Given the description of an element on the screen output the (x, y) to click on. 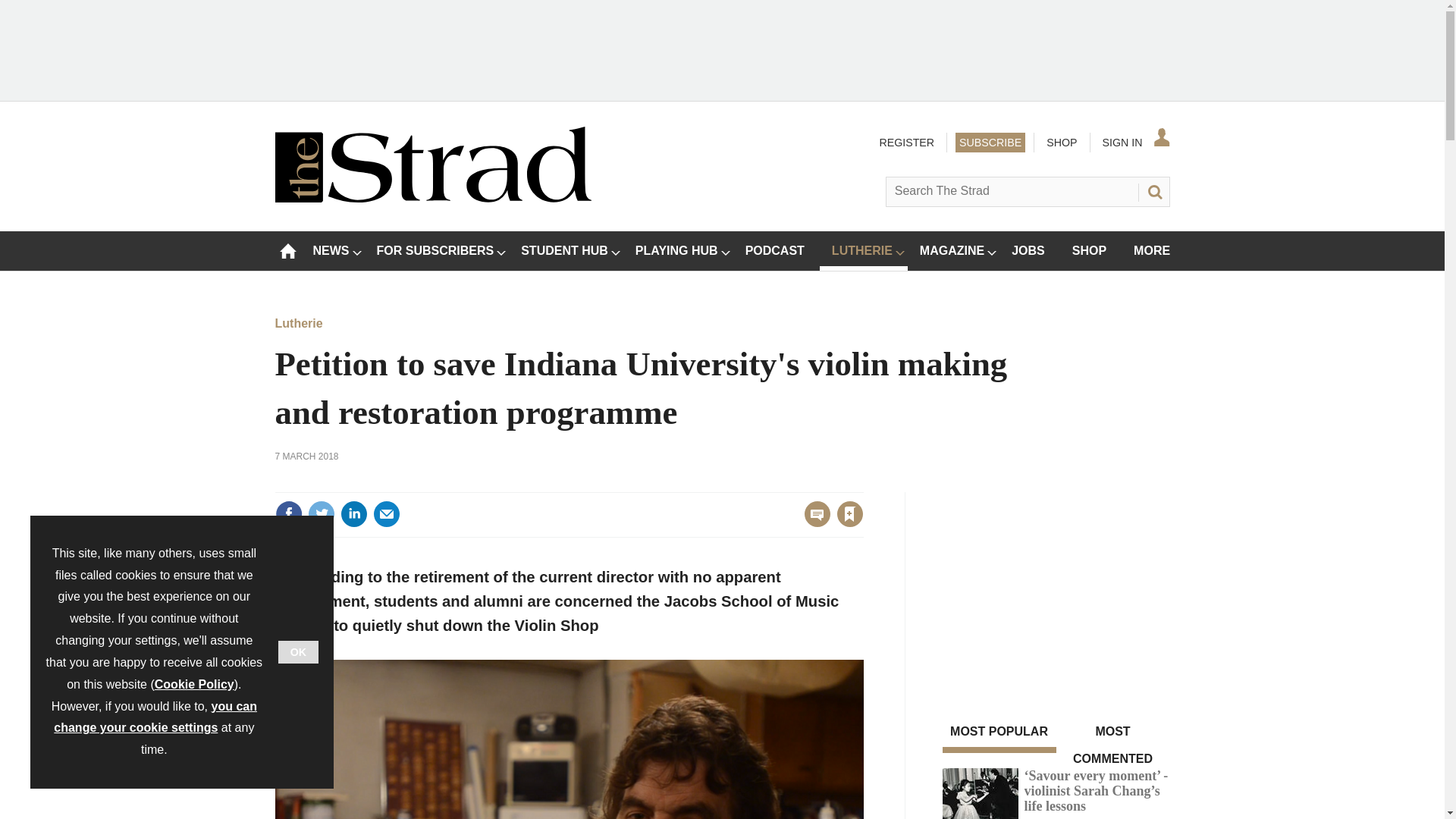
3rd party ad content (721, 48)
Share this on Facebook (288, 513)
you can change your cookie settings (155, 717)
SUBSCRIBE (990, 142)
SIGN IN (1134, 142)
OK (298, 651)
Email this article (386, 513)
SEARCH (1153, 191)
3rd party ad content (1055, 586)
SHOP (1061, 142)
REGISTER (906, 142)
Insert Logo text (433, 197)
Share this on Twitter (320, 513)
Share this on Linked in (352, 513)
No comments (812, 522)
